Given the description of an element on the screen output the (x, y) to click on. 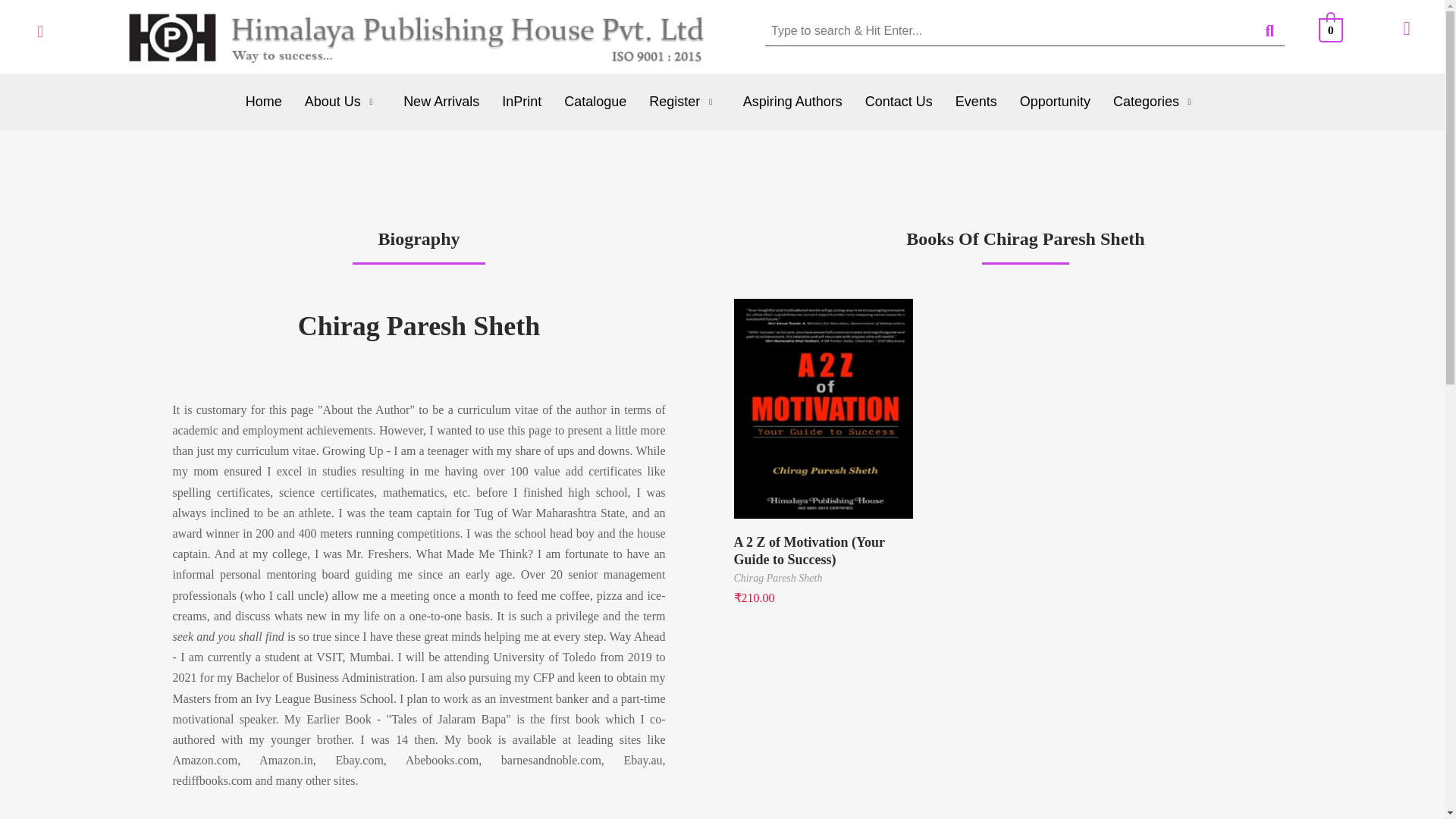
Search (1009, 30)
About Us (342, 101)
0 (1331, 28)
Home (264, 101)
View your shopping cart (1331, 28)
